Given the description of an element on the screen output the (x, y) to click on. 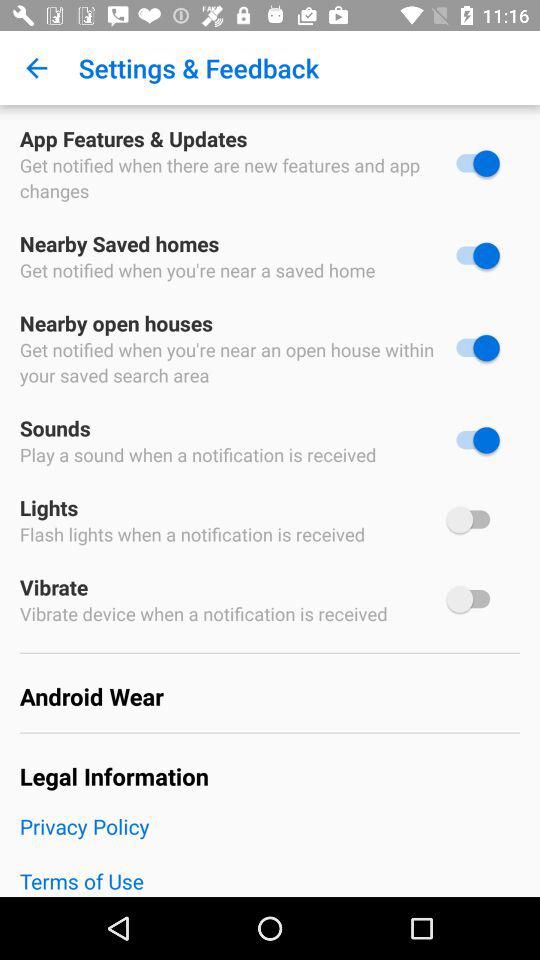
switch nearby open houses option (473, 348)
